Given the description of an element on the screen output the (x, y) to click on. 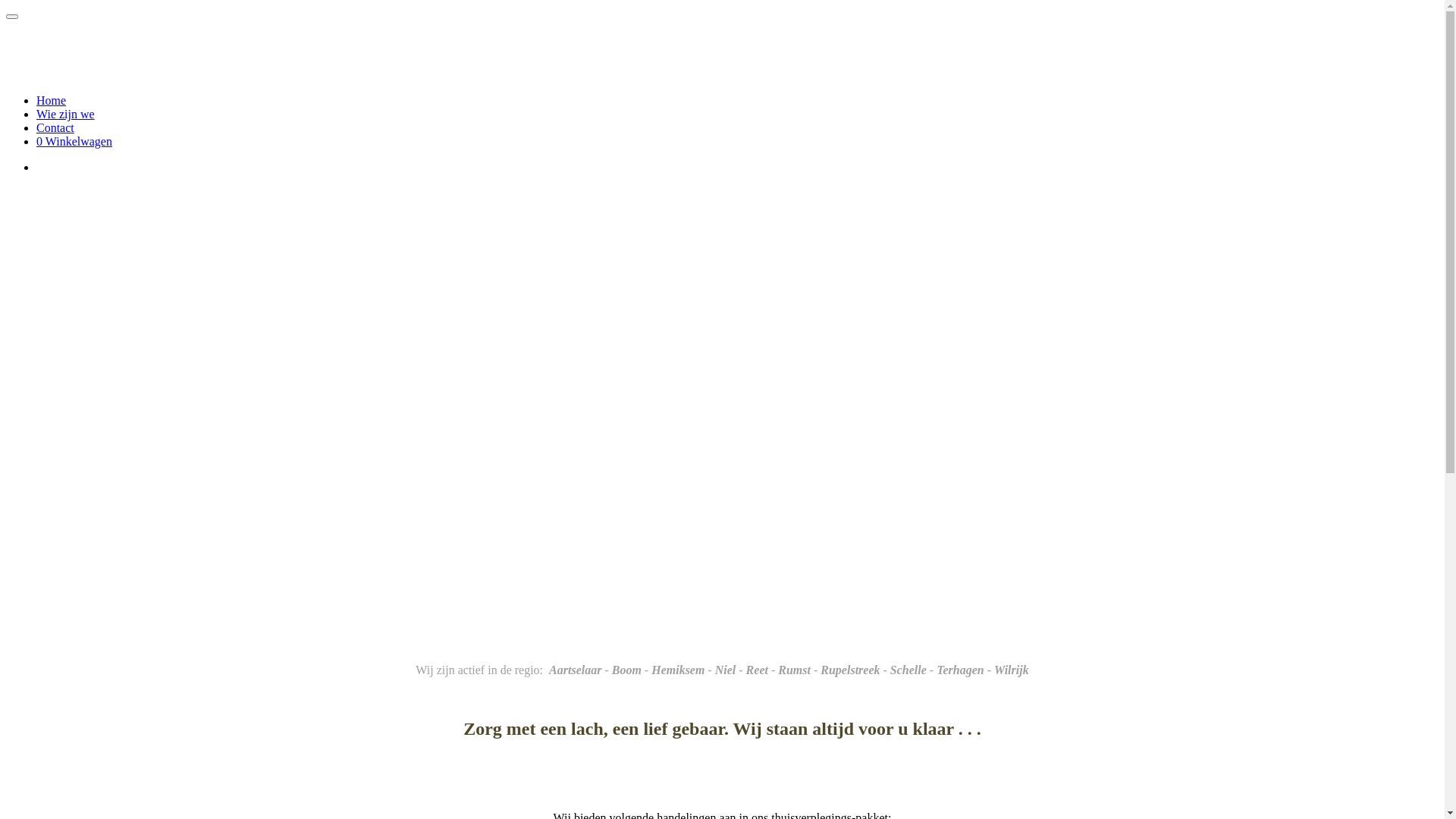
0 Winkelwagen Element type: text (74, 140)
Contact Element type: text (55, 127)
Home Element type: text (50, 100)
Wie zijn we Element type: text (65, 113)
